Given the description of an element on the screen output the (x, y) to click on. 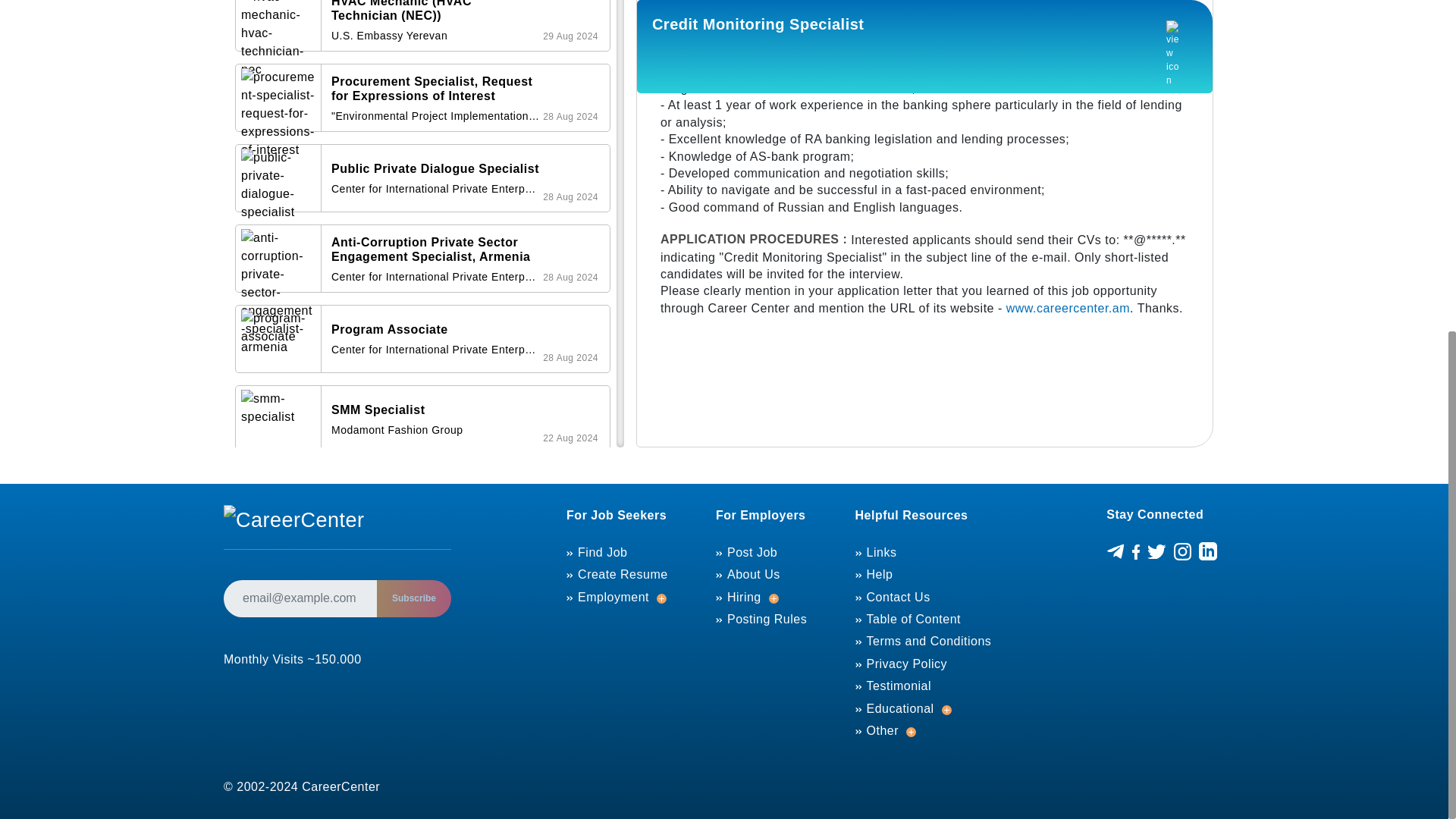
Opening Date (570, 116)
Opening Date (570, 36)
Center for International Private Enterprise (434, 188)
U.S. Embassy Yerevan (434, 35)
Center for International Private Enterprise (434, 277)
Center for International Private Enterprise (434, 349)
Opening Date (570, 277)
Opening Date (570, 196)
Opening Date (570, 357)
